Given the description of an element on the screen output the (x, y) to click on. 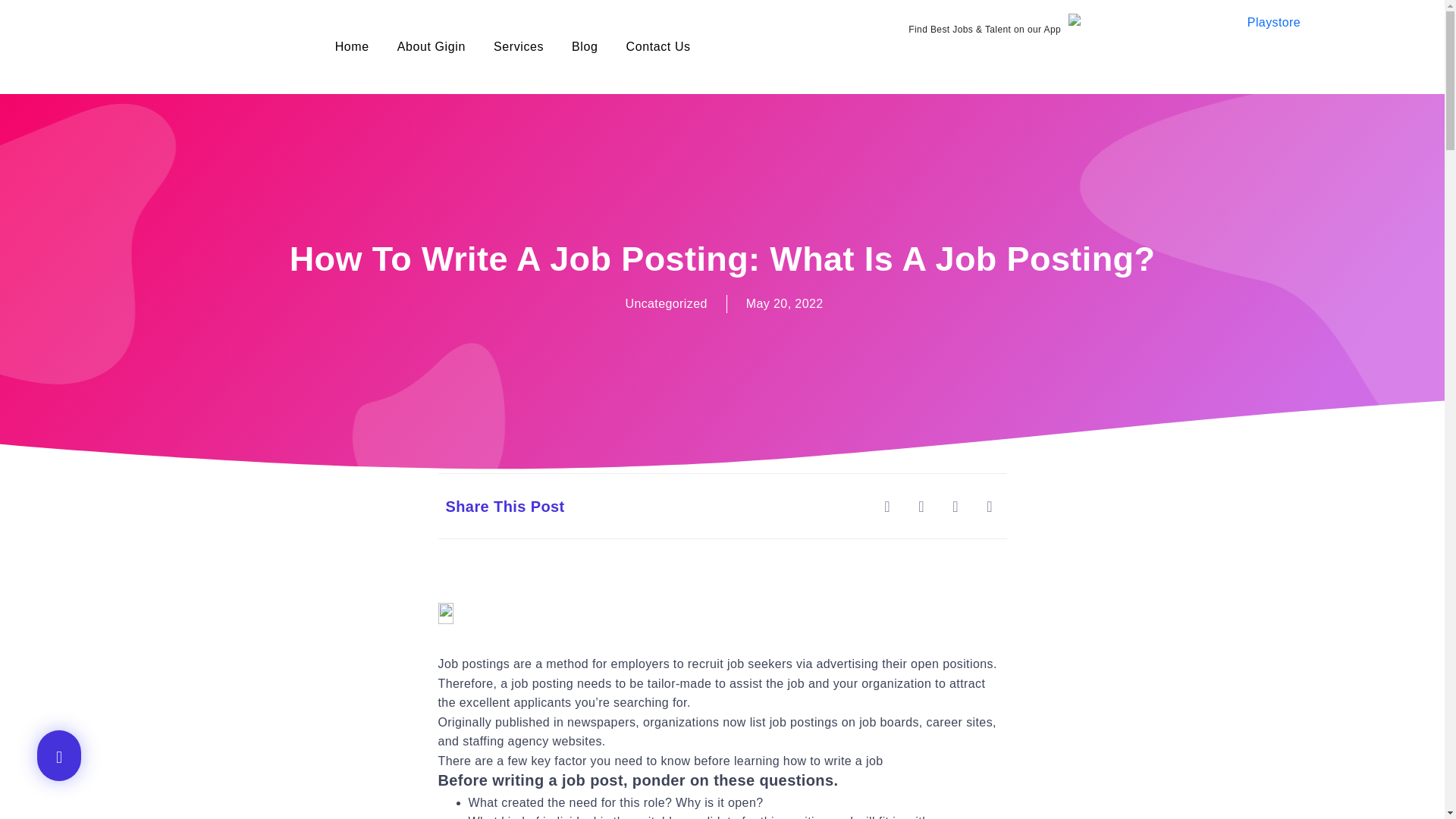
Blog (584, 46)
Uncategorized (665, 303)
Home (351, 46)
Services (518, 46)
About Gigin (431, 46)
Contact Us (658, 46)
May 20, 2022 (784, 303)
